Given the description of an element on the screen output the (x, y) to click on. 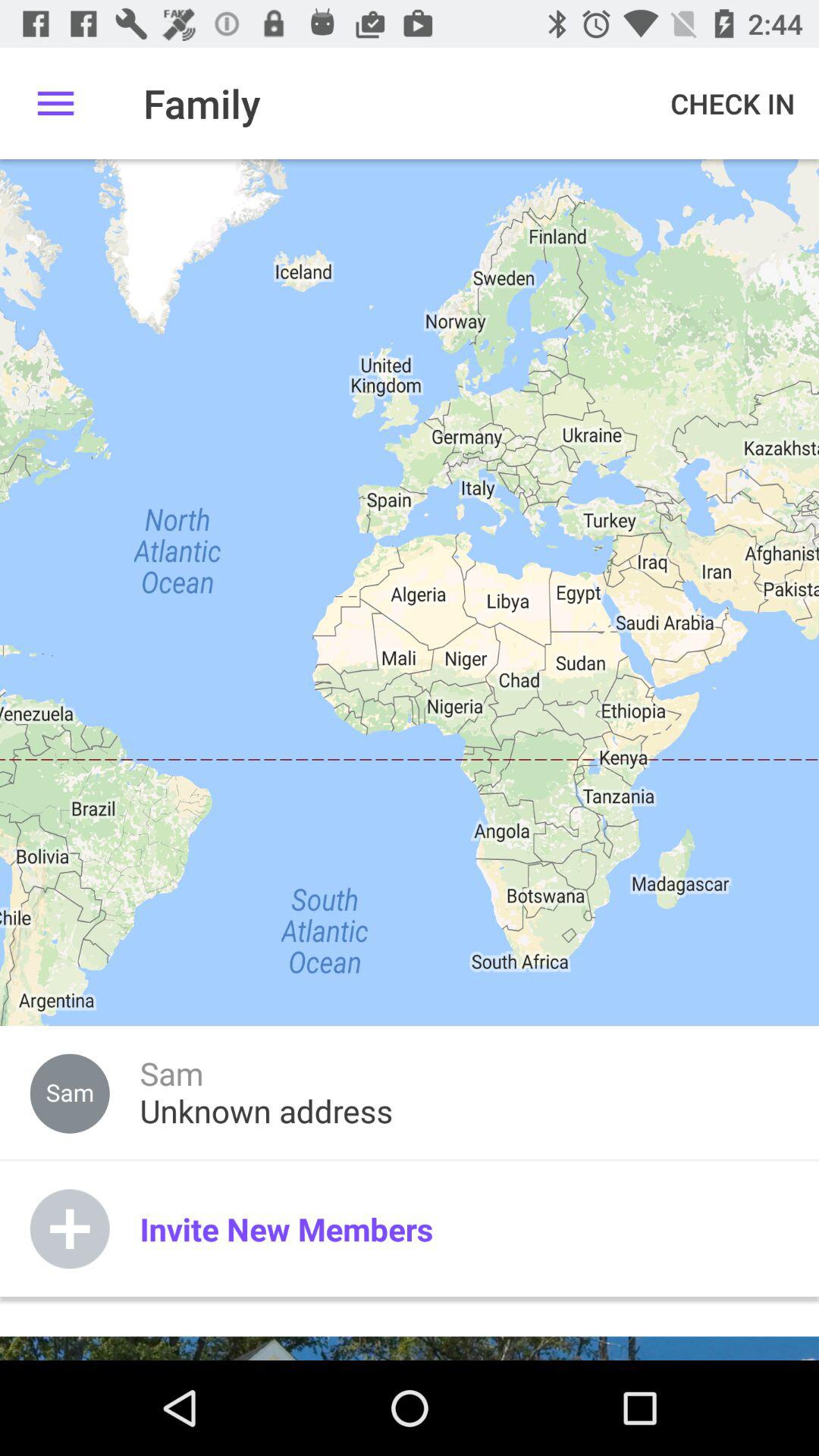
tap icon to the right of family (732, 103)
